Given the description of an element on the screen output the (x, y) to click on. 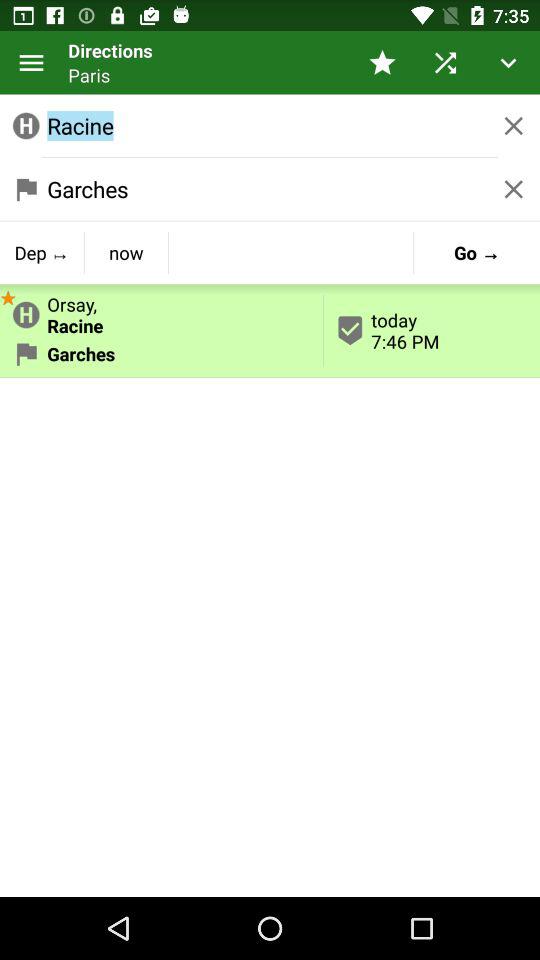
click the item to the right of the directions icon (381, 62)
